Given the description of an element on the screen output the (x, y) to click on. 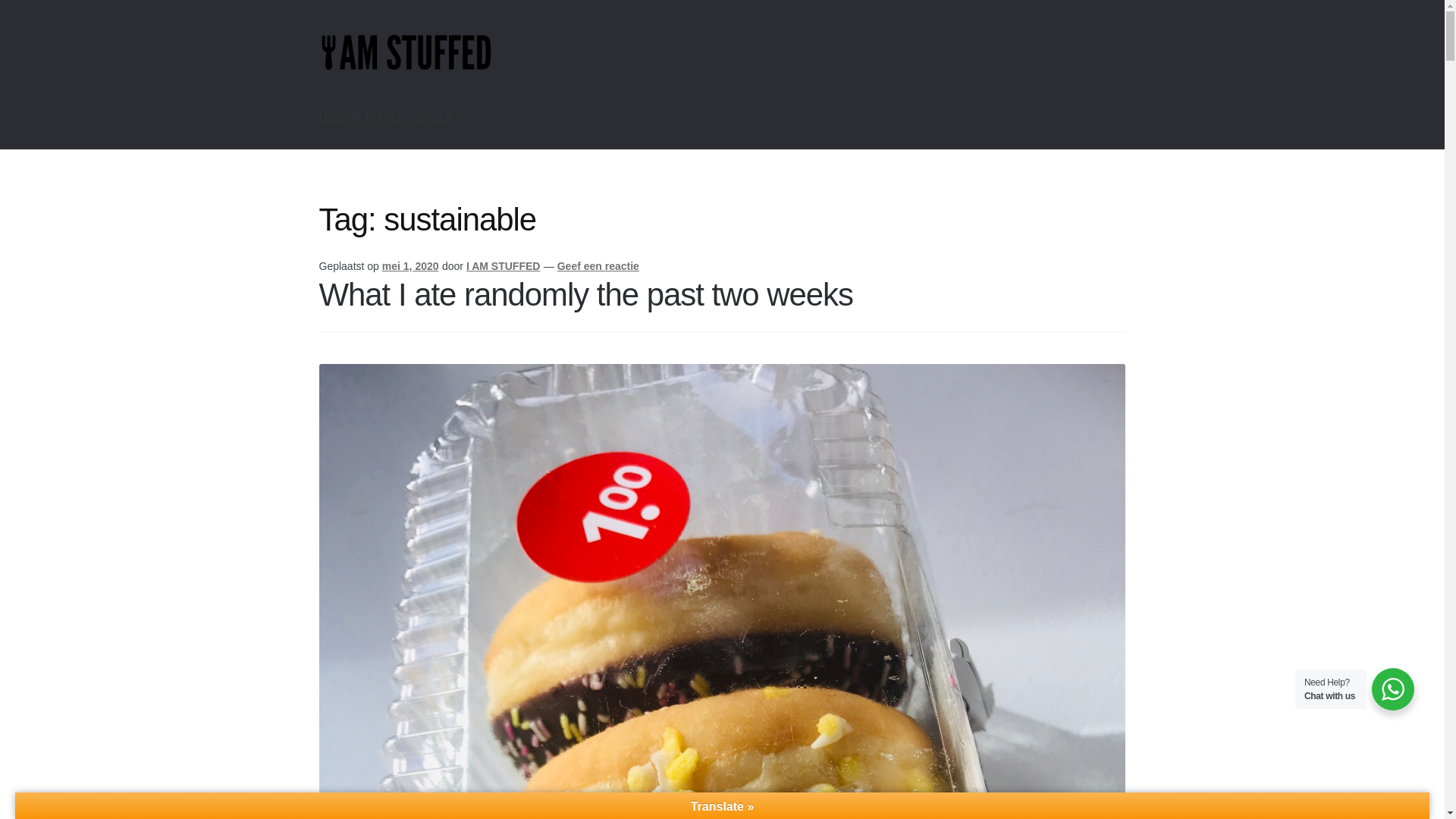
UNDER MAINTENANCE (386, 118)
Geef een reactie (598, 265)
What I ate randomly the past two weeks (585, 294)
mei 1, 2020 (410, 265)
I AM STUFFED (502, 265)
